Given the description of an element on the screen output the (x, y) to click on. 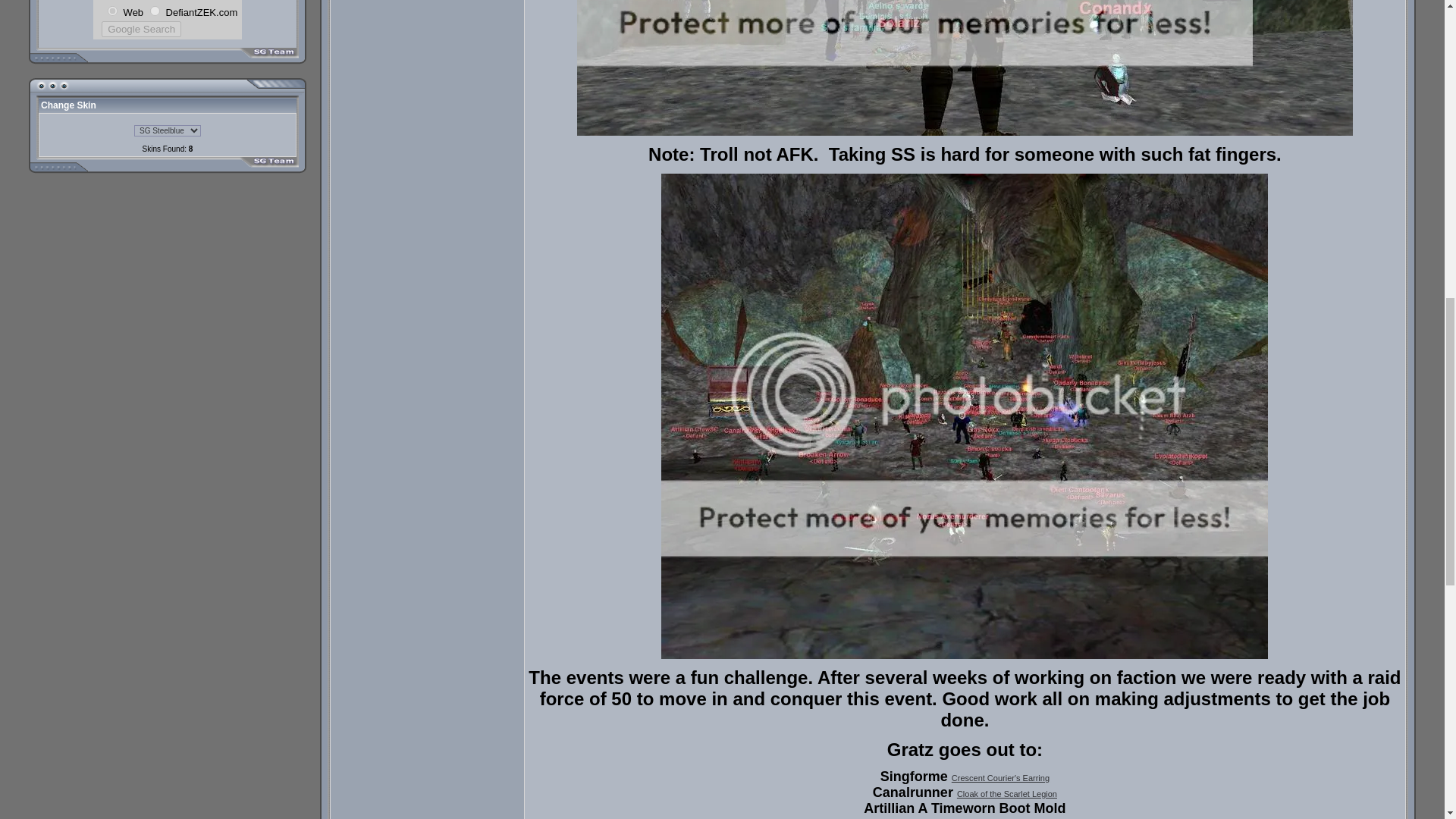
Defiantzek.com (154, 10)
Search Defiantzek.com (201, 11)
Search the Web (133, 11)
Google Search (140, 28)
Google Search (140, 28)
Crescent Courier's Earring (1000, 777)
Cloak of the Scarlet Legion (1006, 793)
